Given the description of an element on the screen output the (x, y) to click on. 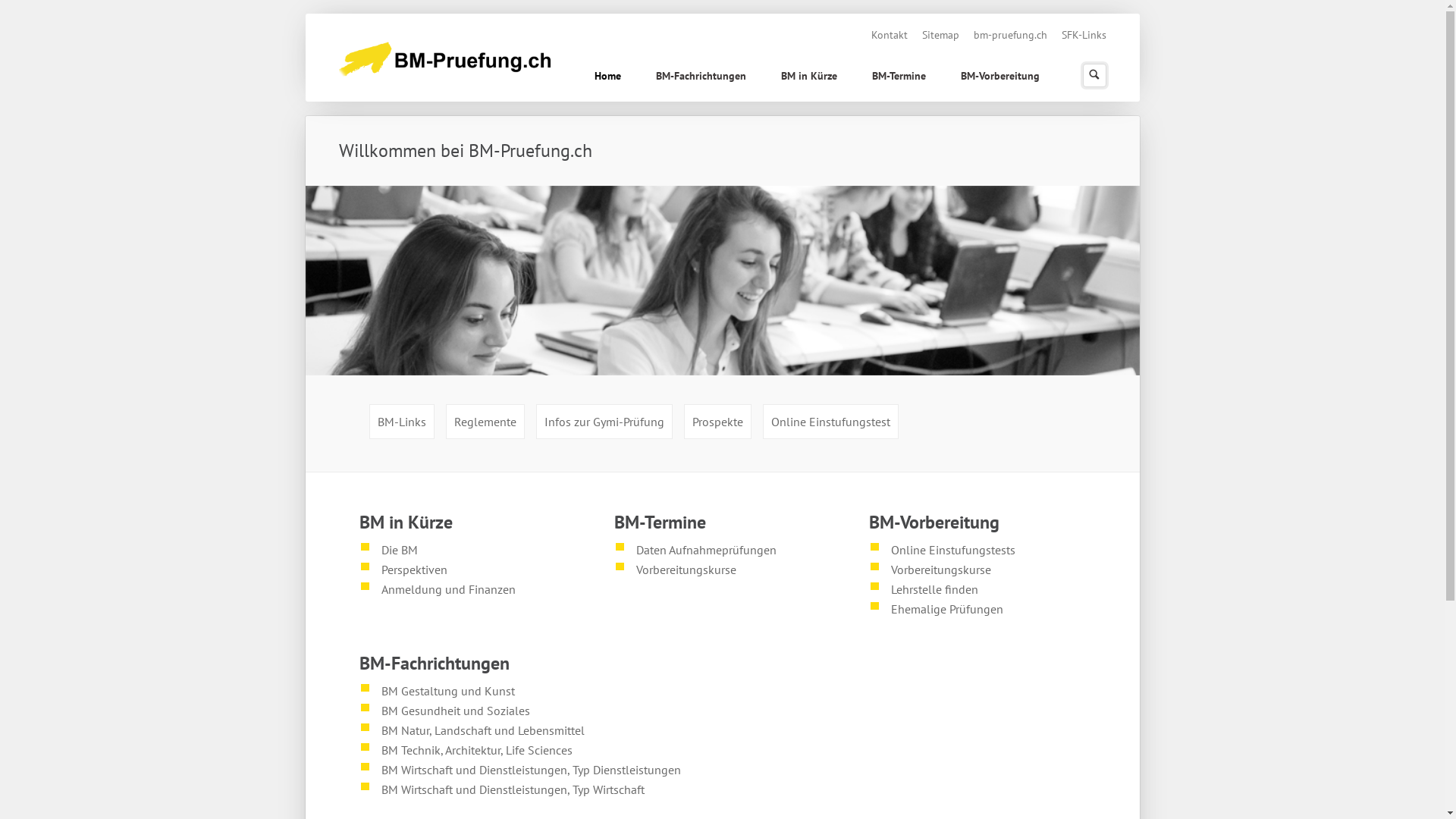
Sitemap Element type: text (940, 34)
BM-Fachrichtungen Element type: text (700, 77)
Perspektiven Element type: text (414, 569)
Anmeldung und Finanzen Element type: text (448, 588)
BM-Termine Element type: text (898, 77)
Online Einstufungstests Element type: text (953, 549)
SFK-Links Element type: text (1083, 34)
BM Gesundheit und Soziales Element type: text (455, 710)
BM-Vorbereitung Element type: text (999, 77)
BM Wirtschaft und Dienstleistungen, Typ Wirtschaft Element type: text (512, 789)
Die BM Element type: text (399, 549)
  Element type: text (1038, 61)
  Element type: text (364, 815)
BM Natur, Landschaft und Lebensmittel Element type: text (482, 729)
Suchen Element type: text (1093, 75)
  Element type: text (364, 615)
BM Technik, Architektur, Life Sciences Element type: text (476, 749)
Lehrstelle finden Element type: text (934, 588)
Home Element type: text (607, 77)
BM Gestaltung und Kunst Element type: text (447, 690)
Kontakt Element type: text (888, 34)
bm-pruefung.ch Element type: text (1010, 34)
Vorbereitungskurse Element type: text (941, 569)
BM Wirtschaft und Dienstleistungen, Typ Dienstleistungen Element type: text (530, 769)
Vorbereitungskurse Element type: text (686, 569)
  Element type: text (619, 596)
  Element type: text (908, 403)
  Element type: text (874, 635)
  Element type: text (1105, 24)
